Given the description of an element on the screen output the (x, y) to click on. 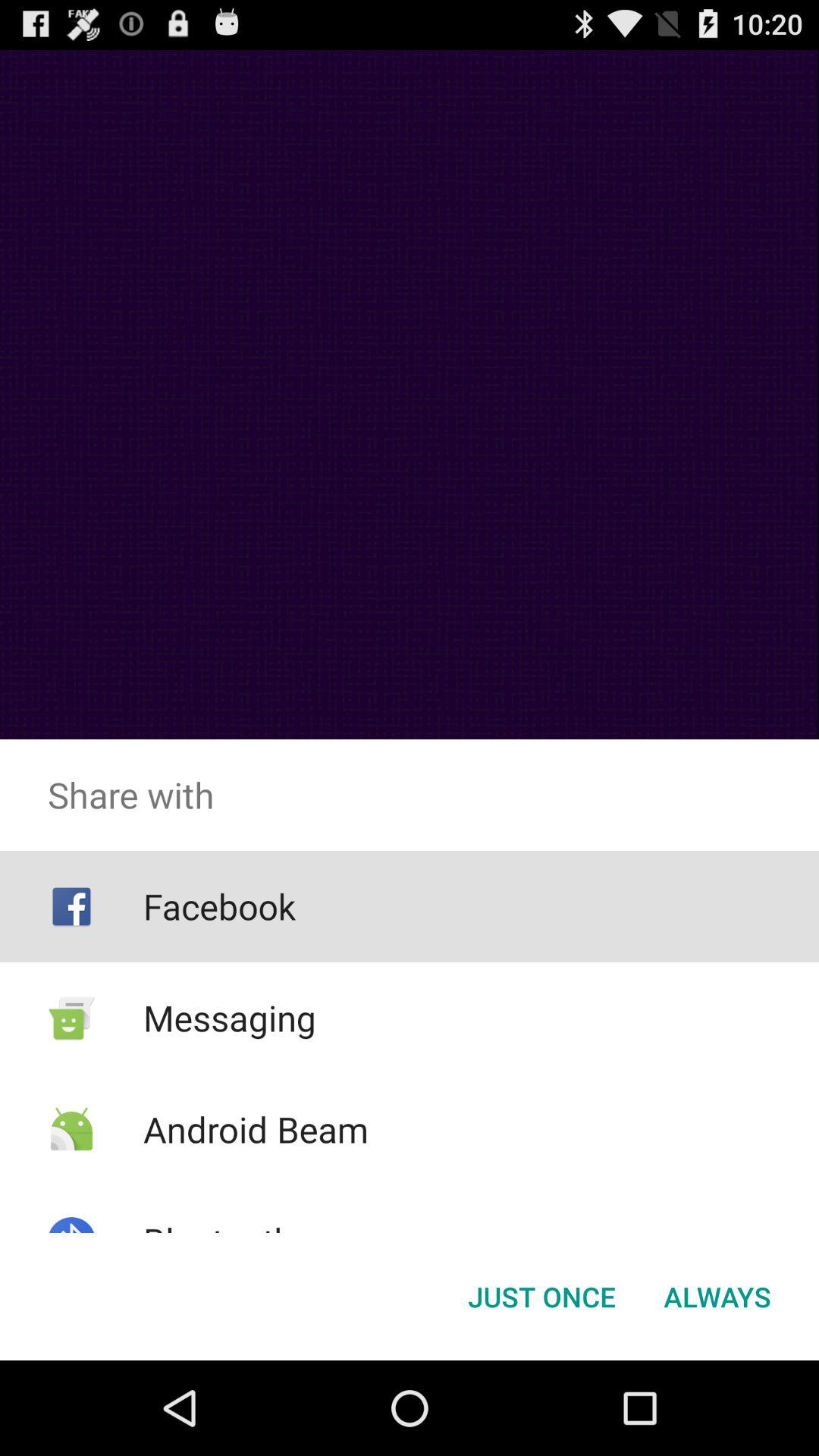
scroll until bluetooth item (218, 1240)
